Given the description of an element on the screen output the (x, y) to click on. 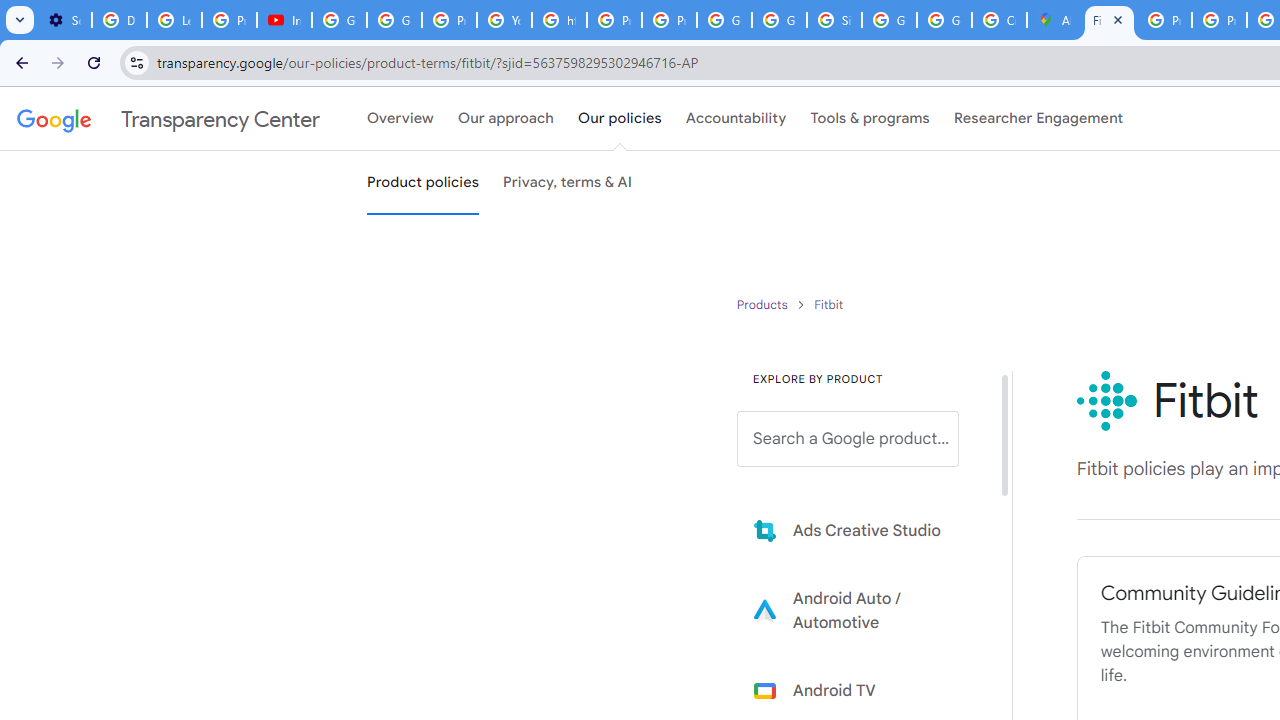
Our policies (619, 119)
Learn more about Android Auto (862, 610)
Learn more about Ads Creative Studio (862, 530)
Product policies (763, 304)
Create your Google Account (998, 20)
Privacy, terms & AI (568, 183)
Learn more about Android Auto (862, 610)
Researcher Engagement (1038, 119)
Delete photos & videos - Computer - Google Photos Help (119, 20)
YouTube (504, 20)
Learn more about Ads Creative Studio (862, 530)
